Given the description of an element on the screen output the (x, y) to click on. 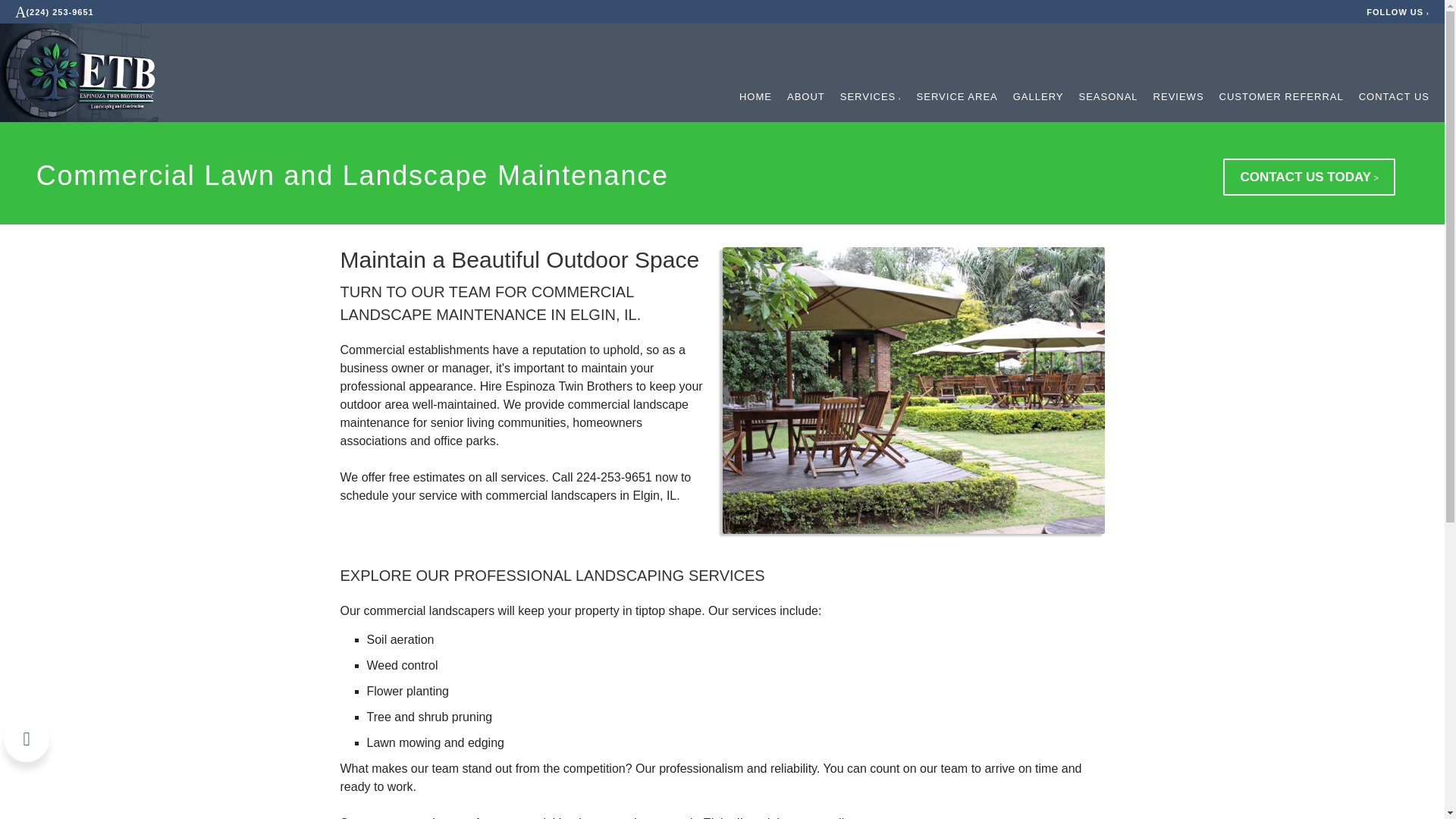
REVIEWS (1178, 96)
SEASONAL (1107, 96)
CONTACT US (1393, 96)
GALLERY (1038, 96)
CUSTOMER REFERRAL (1281, 96)
ABOUT (806, 96)
CONTACT US TODAY (1308, 177)
SERVICE AREA (957, 96)
HOME (755, 96)
